Given the description of an element on the screen output the (x, y) to click on. 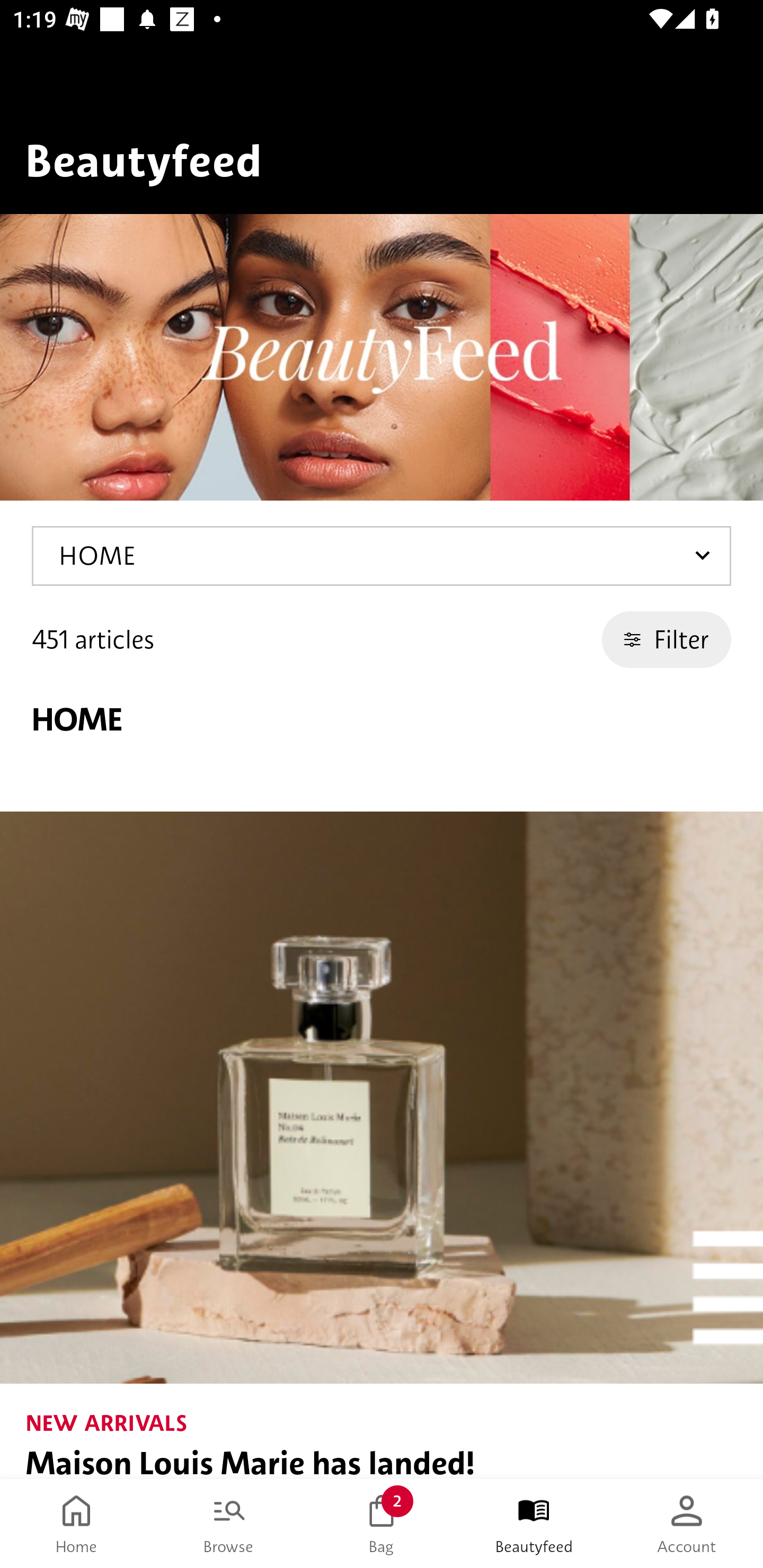
HOME (381, 555)
Filter (666, 639)
NEW ARRIVALS Maison Louis Marie has landed! (381, 1145)
Home (76, 1523)
Browse (228, 1523)
Bag 2 Bag (381, 1523)
Account (686, 1523)
